Given the description of an element on the screen output the (x, y) to click on. 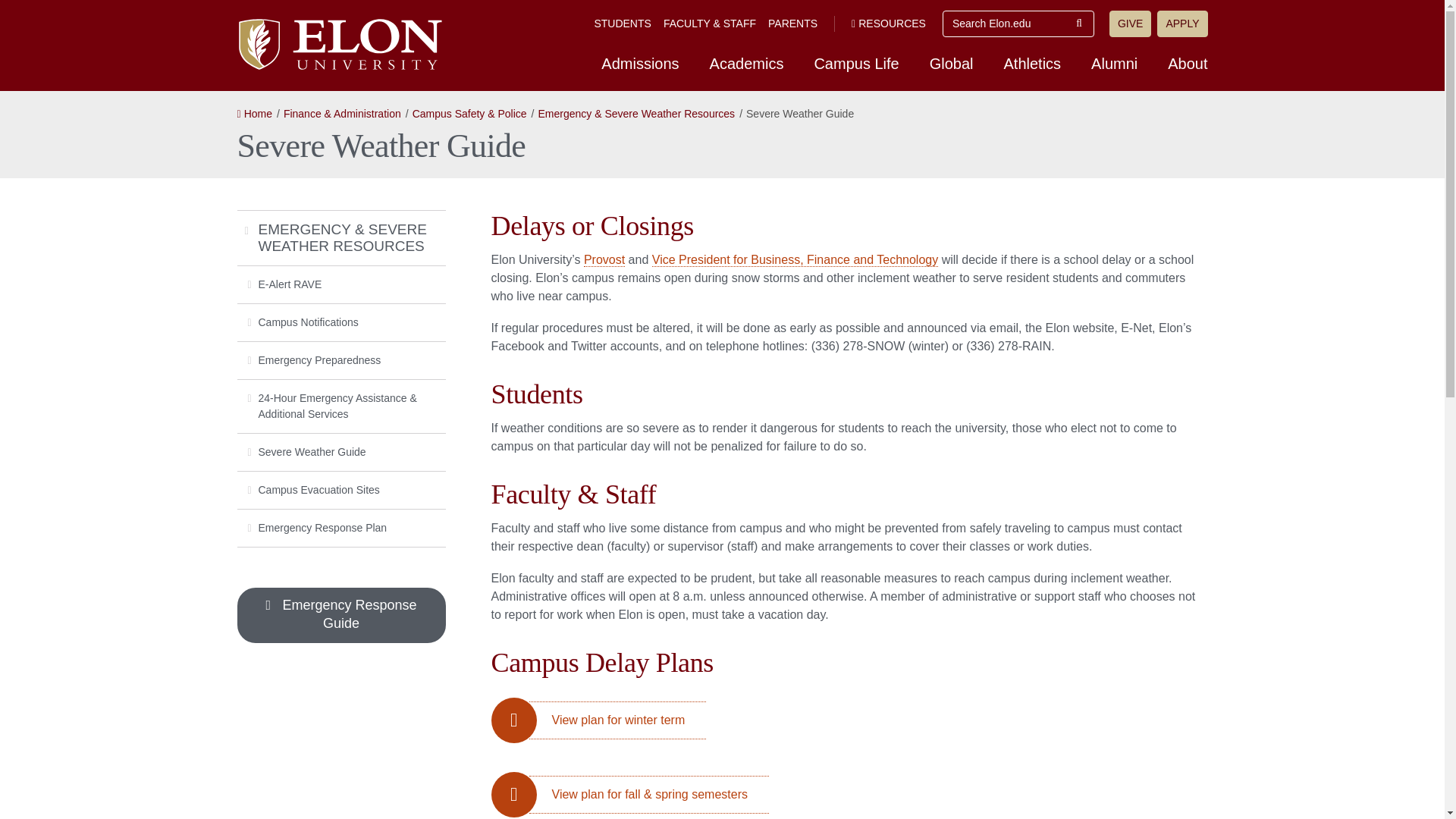
E-Alert RAVE (340, 284)
Campus Notifications (340, 322)
Athletics (1032, 63)
Admissions (640, 63)
Submit Search (1079, 23)
Elon University home (338, 44)
Campus Life (855, 63)
Vice President for Business, Finance and Technology (794, 259)
Home (252, 113)
GIVE (1130, 23)
RESOURCES (888, 23)
Alumni (1114, 63)
Provost (603, 259)
Academics (746, 63)
Global (951, 63)
